Given the description of an element on the screen output the (x, y) to click on. 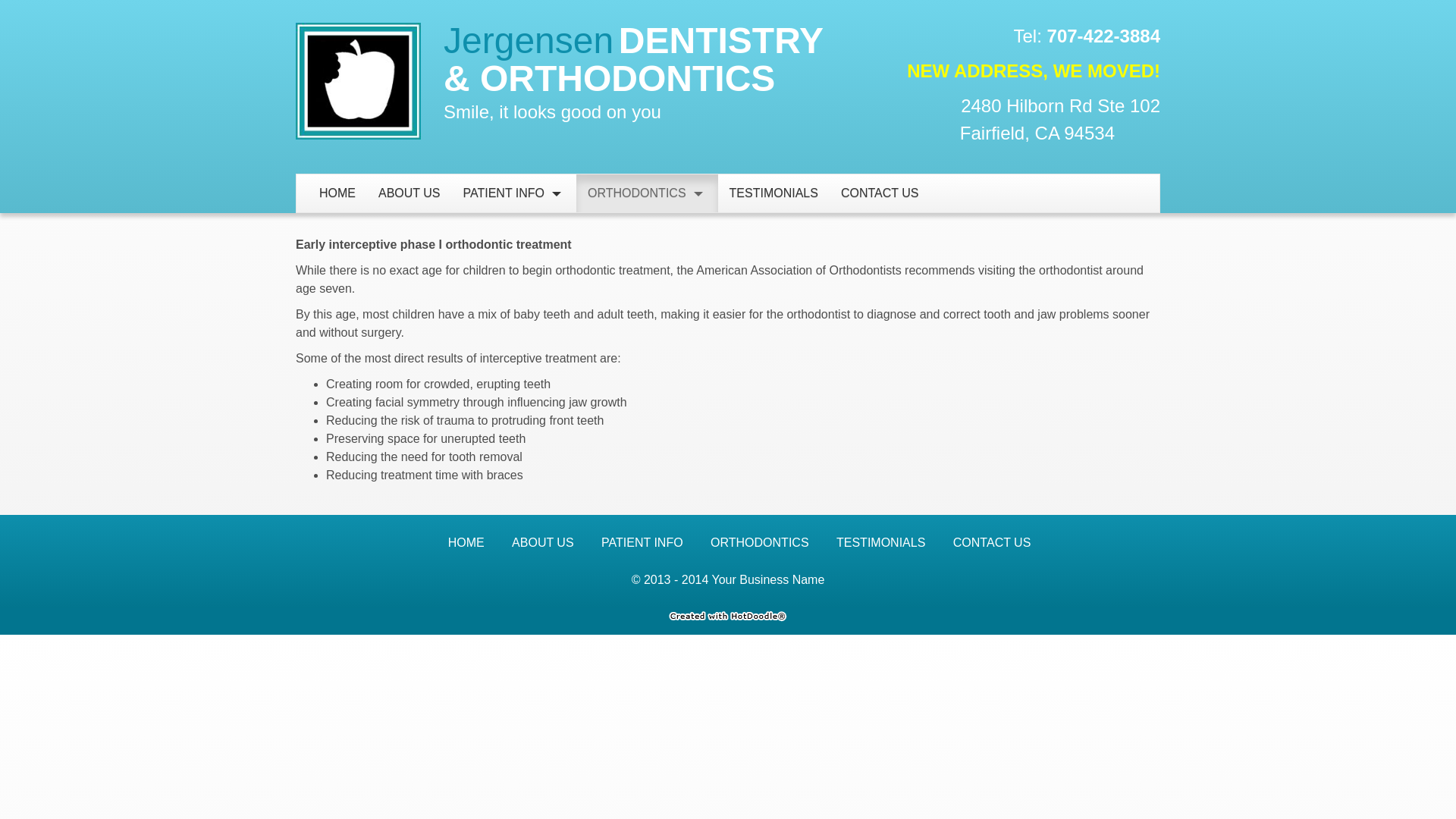
HOME (336, 193)
ABOUT US (542, 542)
ABOUT US (408, 193)
PATIENT INFO (497, 193)
CONTACT US (879, 193)
TESTIMONIALS (880, 542)
PATIENT INFO (641, 542)
ORTHODONTICS (630, 193)
CONTACT US (992, 542)
ORTHODONTICS (758, 542)
TESTIMONIALS (773, 193)
HOME (466, 542)
